Given the description of an element on the screen output the (x, y) to click on. 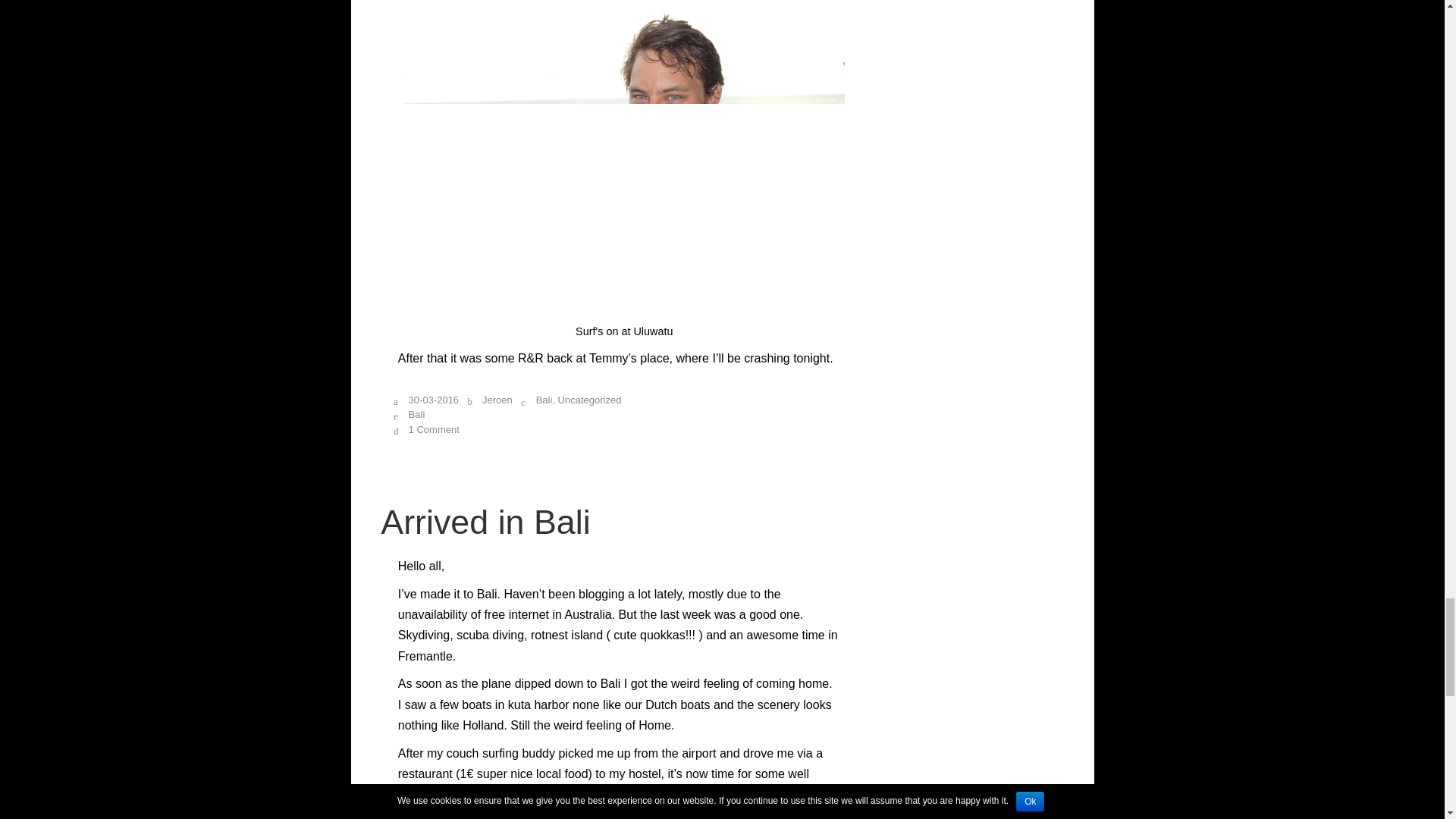
1 Comment (434, 429)
Arrived in Bali (484, 521)
Jeroen (496, 399)
Posts by Jeroen (496, 399)
30-03-2016 (434, 399)
Bali (419, 414)
Uncategorized (589, 399)
Bali (544, 399)
